Given the description of an element on the screen output the (x, y) to click on. 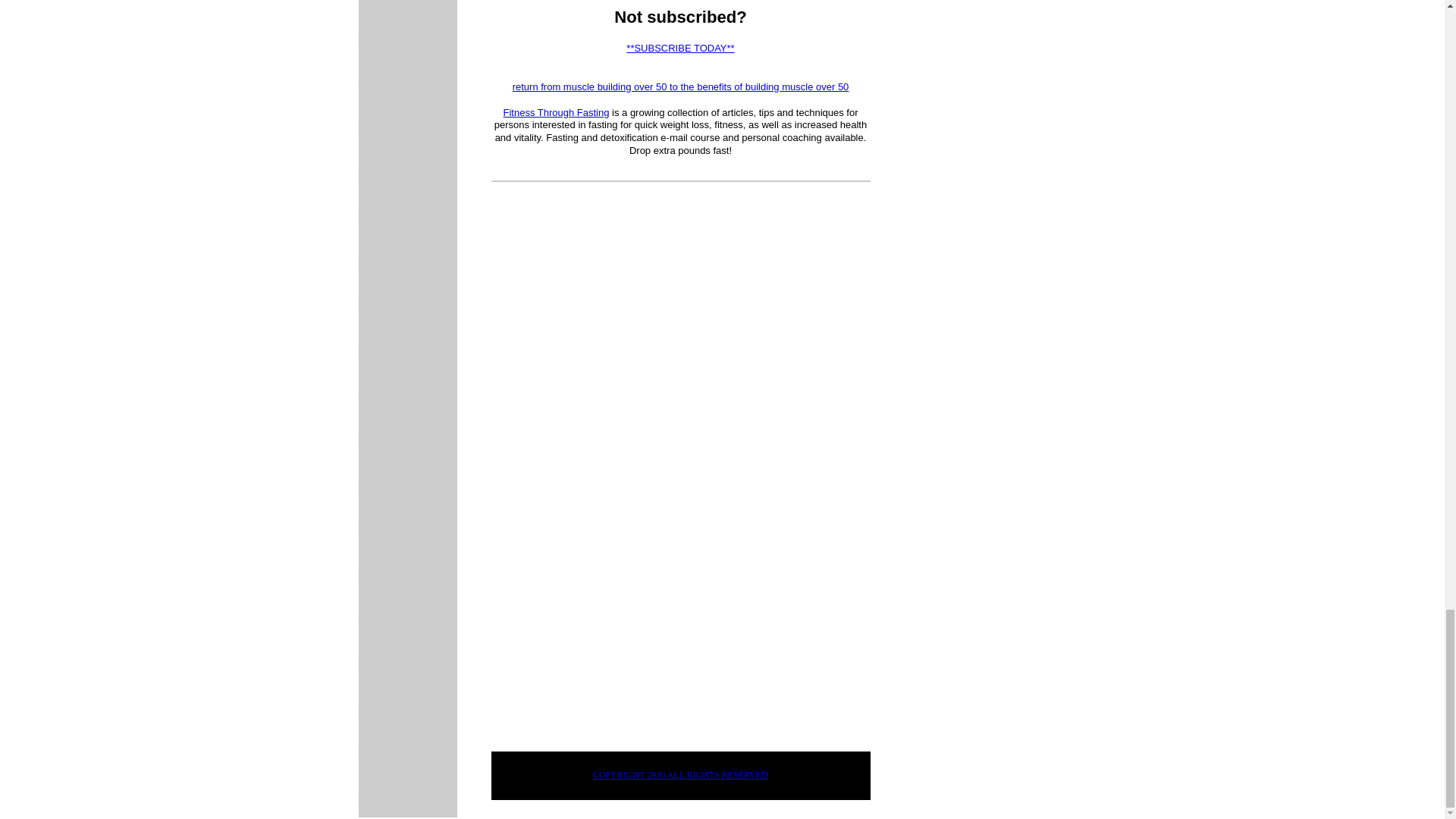
Fitness Through Fasting (555, 112)
Advertisement (618, 622)
COPYRIGHT 2010 ALL RIGHTS RESERVED (680, 774)
Fasting for Quick Weight Loss (555, 112)
